Given the description of an element on the screen output the (x, y) to click on. 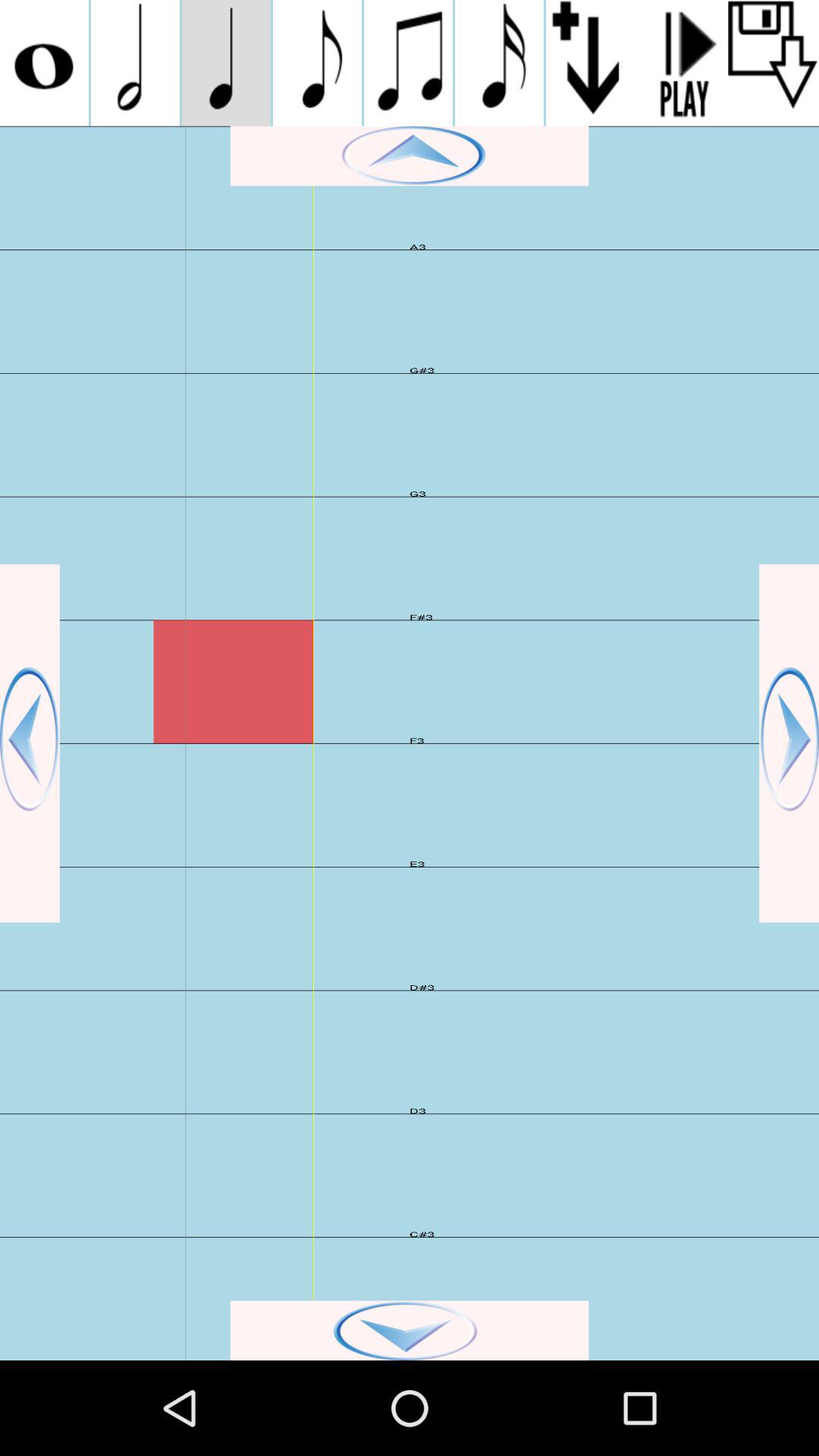
insert musical note (499, 63)
